Given the description of an element on the screen output the (x, y) to click on. 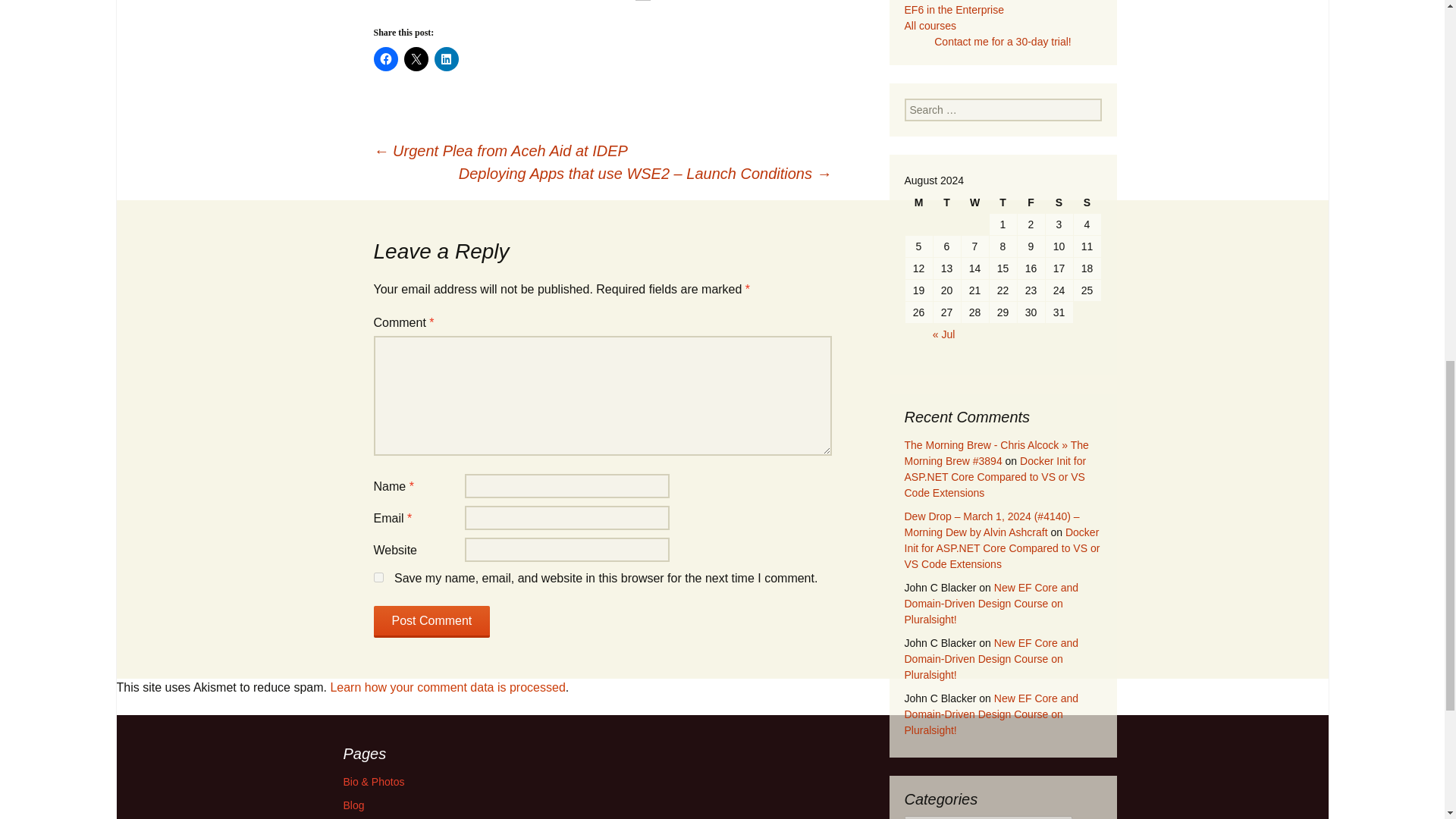
Saturday (1058, 201)
Friday (1031, 201)
Monday (919, 201)
Thursday (1002, 201)
Sunday (1087, 201)
Tuesday (946, 201)
Post Comment (430, 622)
Learn how your comment data is processed (447, 686)
Click to share on LinkedIn (445, 58)
Wednesday (974, 201)
Click to share on X (415, 58)
Post Comment (430, 622)
yes (377, 577)
Click to share on Facebook (384, 58)
